Given the description of an element on the screen output the (x, y) to click on. 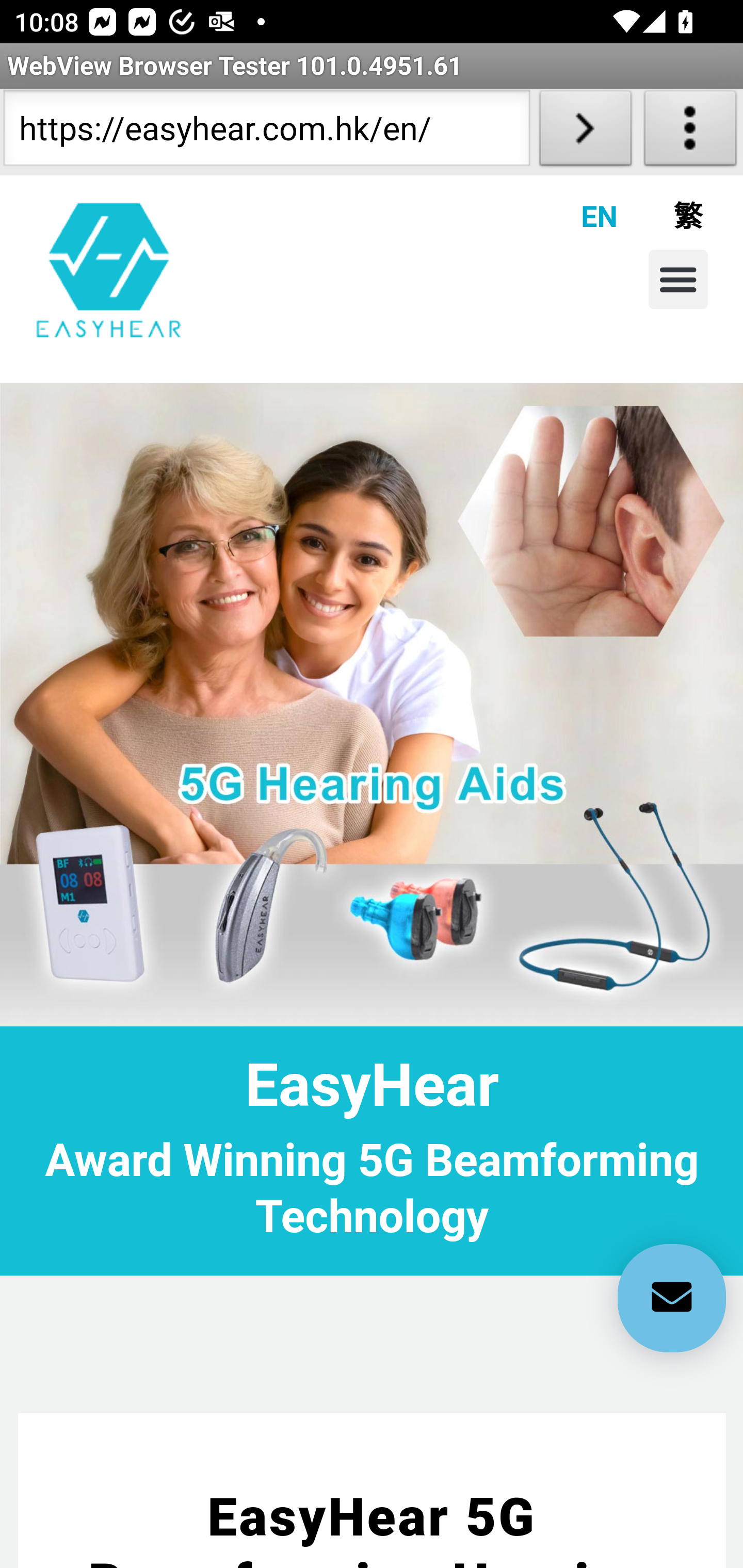
https://easyhear.com.hk/en/ (266, 132)
Load URL (585, 132)
About WebView (690, 132)
EN (574, 215)
繁 (660, 215)
en (109, 269)
Menu Toggle (677, 278)
EasyHear Award Winning 5G Beamforming Technology (371, 1148)
EasyHear 5G Beamforming Hearing Aids (372, 1525)
